Given the description of an element on the screen output the (x, y) to click on. 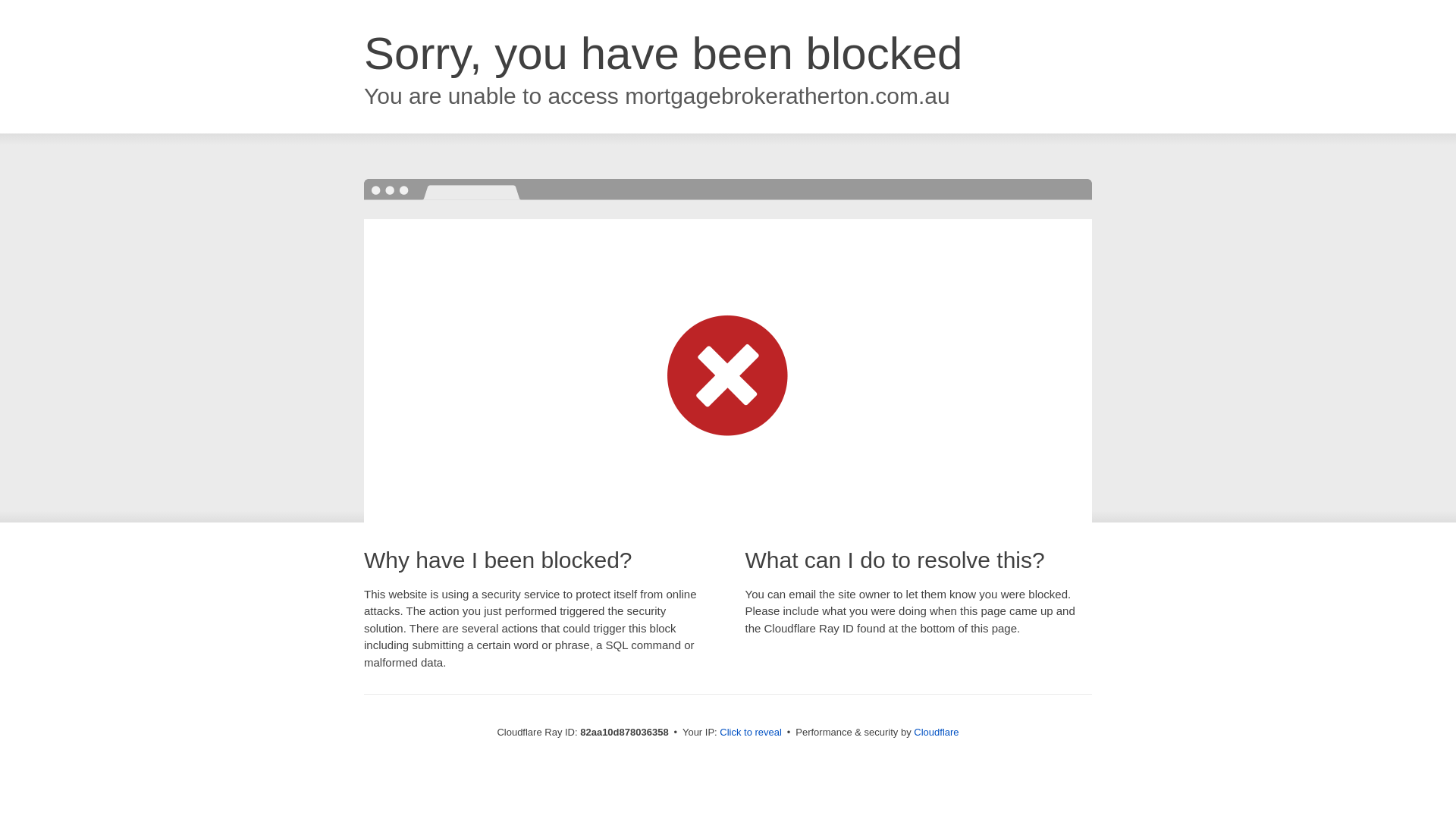
Cloudflare Element type: text (935, 731)
Click to reveal Element type: text (750, 732)
